Given the description of an element on the screen output the (x, y) to click on. 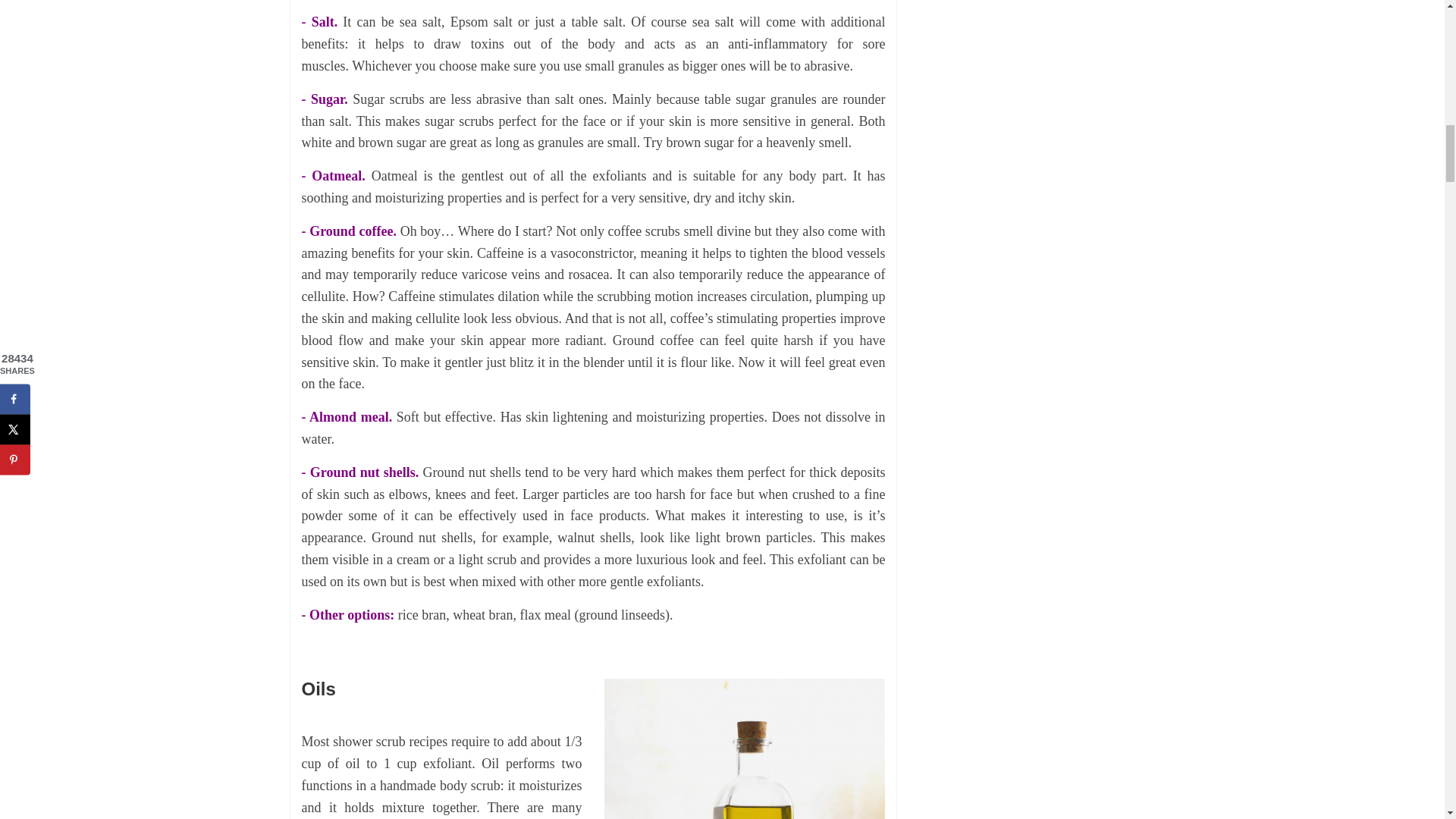
olive-oil-greek-oil-olive-53502 (744, 748)
